Given the description of an element on the screen output the (x, y) to click on. 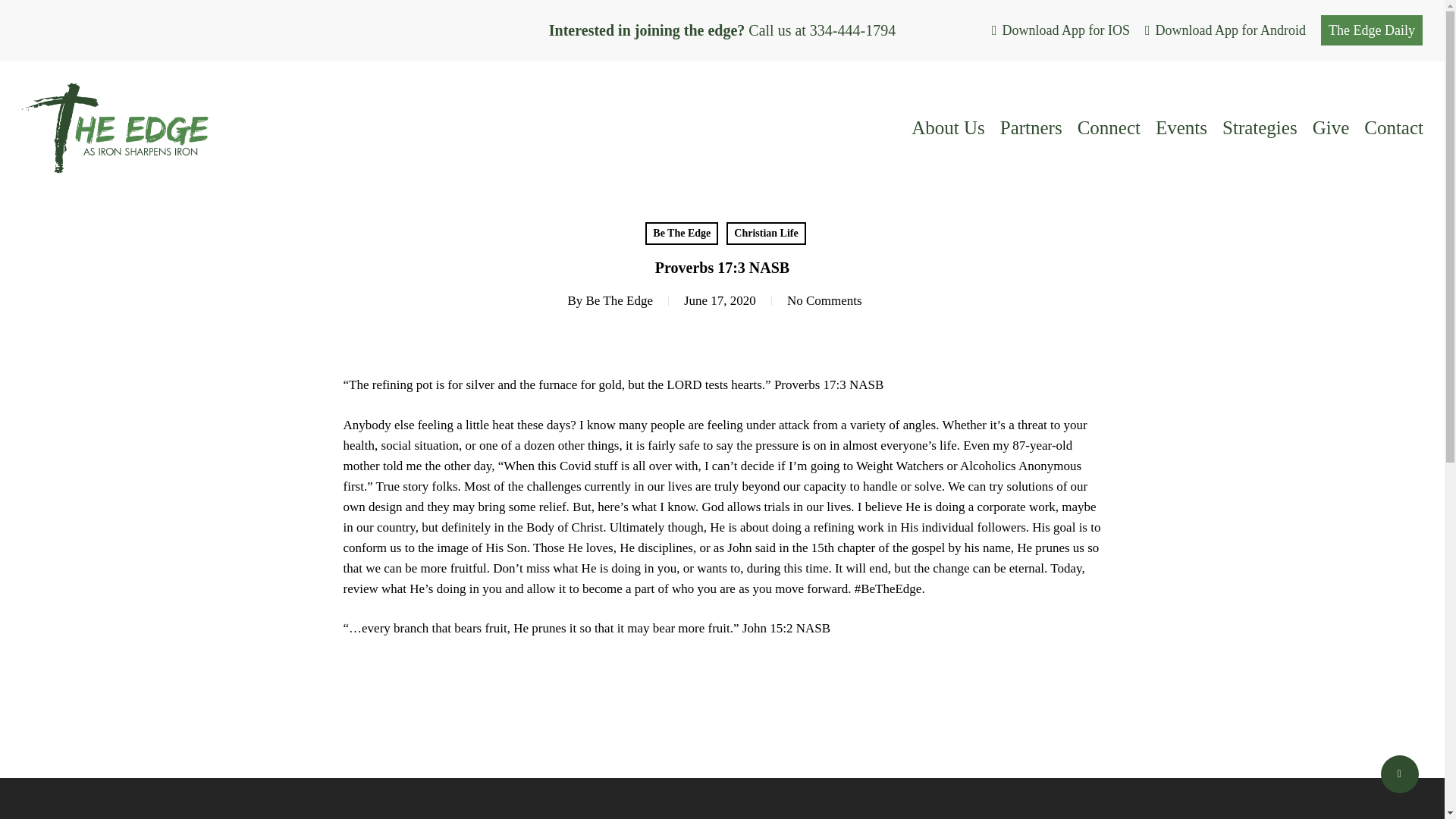
The Edge Daily (1371, 31)
No Comments (824, 300)
334-444-1794 (852, 30)
Connect (1108, 127)
Download App for Android (1225, 30)
Be The Edge (681, 232)
Posts by Be The Edge (619, 300)
Partners (1031, 127)
Christian Life (765, 232)
Events (1181, 127)
Be The Edge (619, 300)
Contact (1393, 127)
Download App for IOS (1060, 30)
Give (1331, 127)
Strategies (1260, 127)
